Given the description of an element on the screen output the (x, y) to click on. 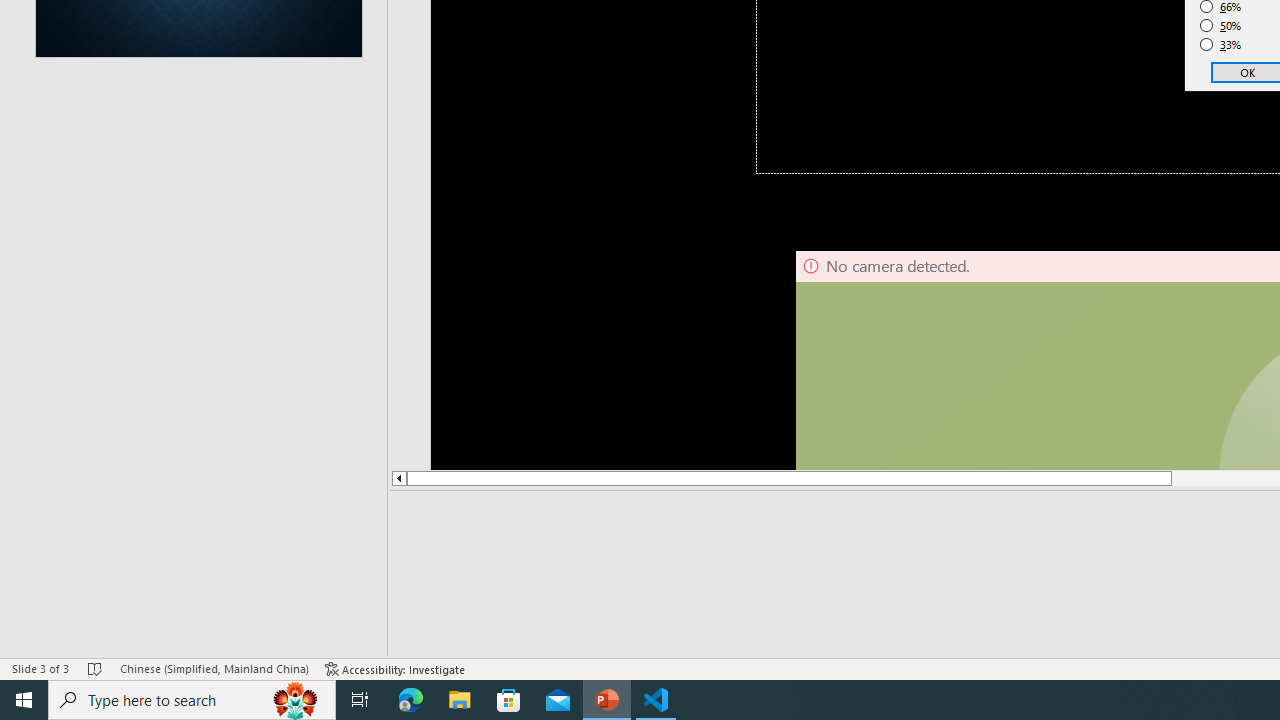
50% (1221, 25)
33% (1221, 44)
